Given the description of an element on the screen output the (x, y) to click on. 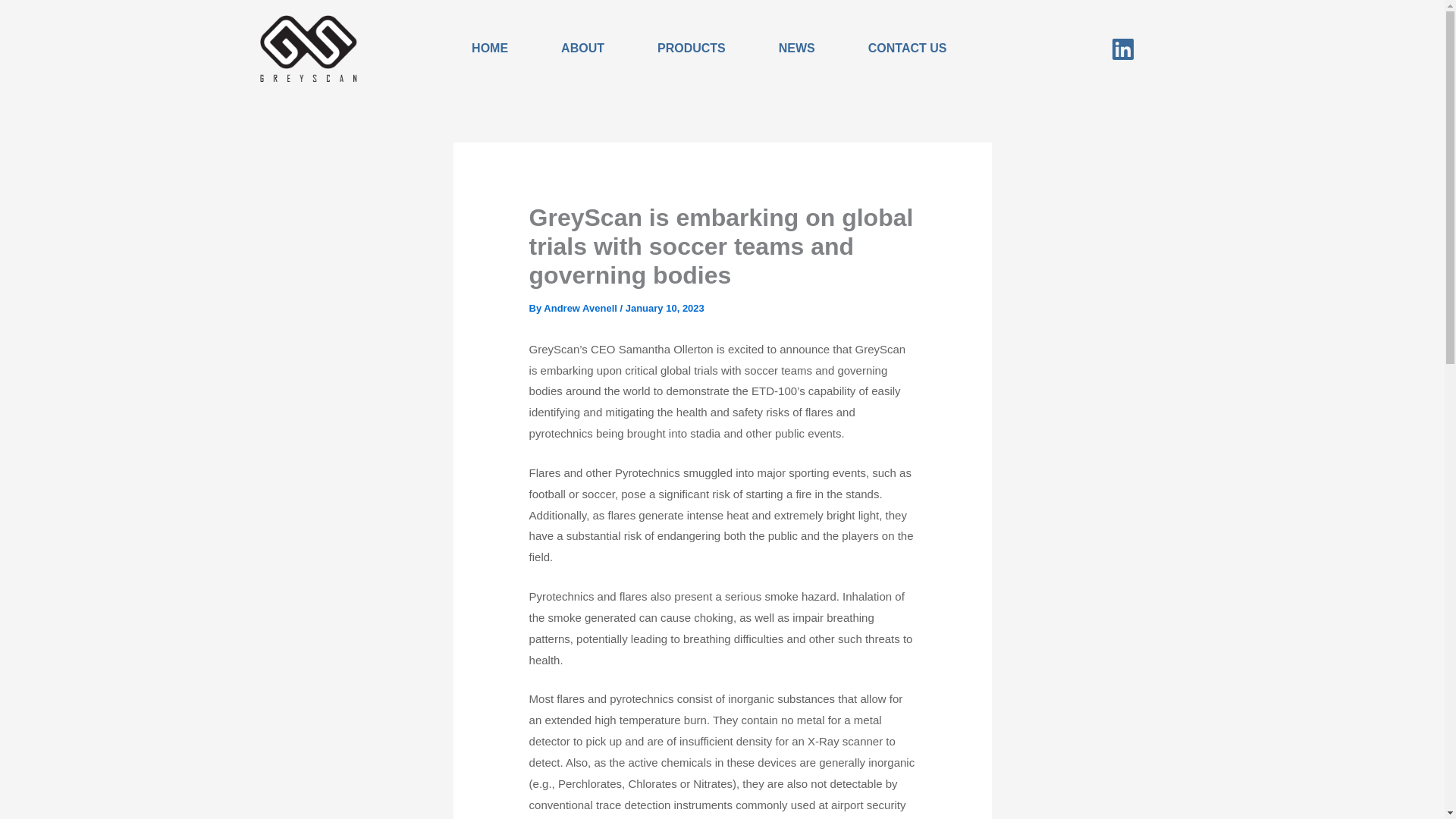
HOME (489, 48)
NEWS (795, 48)
CONTACT US (907, 48)
ABOUT (583, 48)
View all posts by Andrew Avenell (581, 307)
PRODUCTS (691, 48)
